Given the description of an element on the screen output the (x, y) to click on. 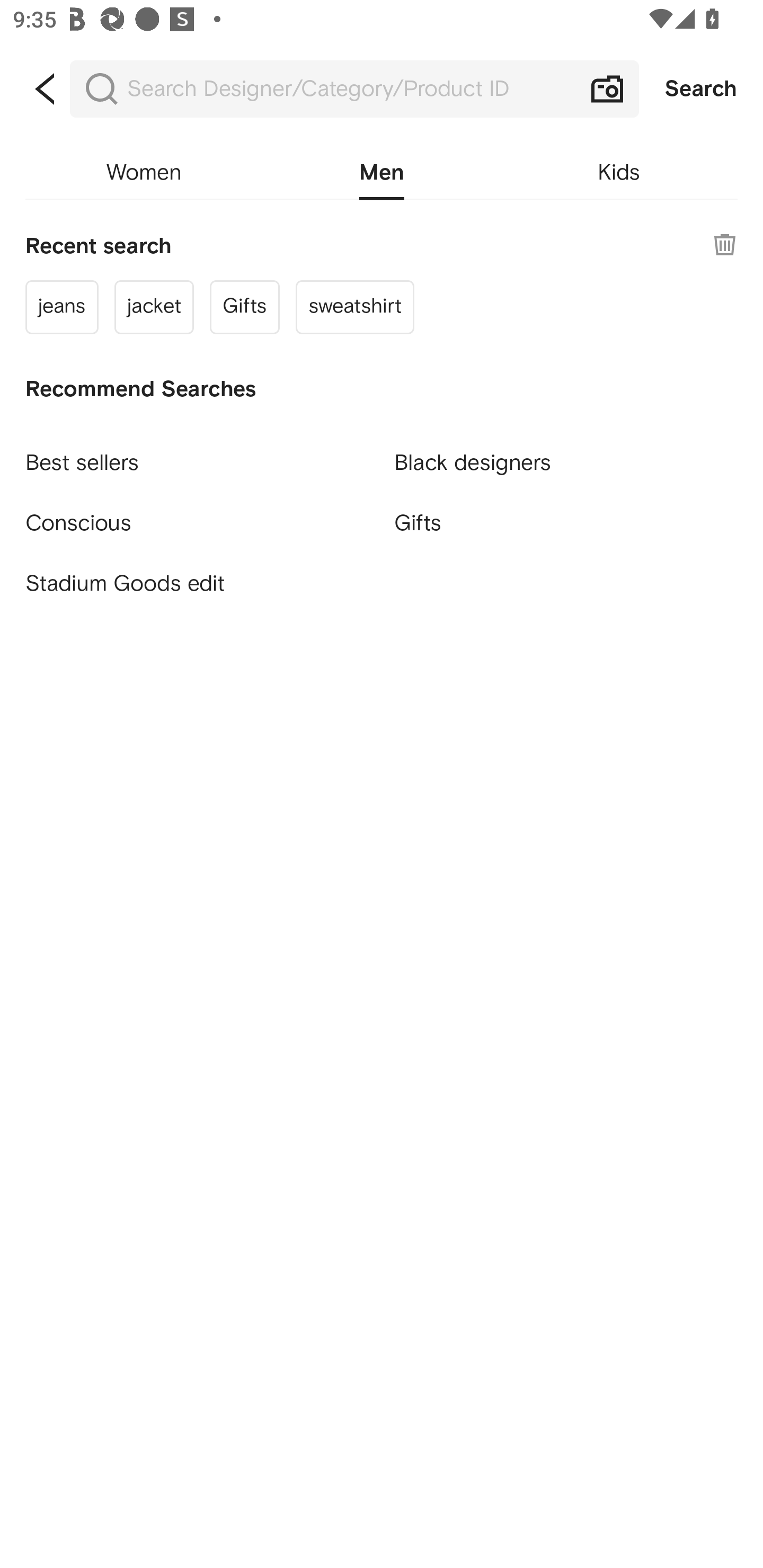
Search Designer/Category/Product ID (354, 89)
Search (701, 89)
Women (143, 172)
Kids (618, 172)
jeans (61, 306)
jacket (153, 306)
Gifts (244, 306)
sweatshirt (354, 306)
Best sellers (196, 454)
Black designers (565, 454)
Conscious (196, 514)
Gifts (565, 522)
Stadium Goods edit (196, 583)
